Given the description of an element on the screen output the (x, y) to click on. 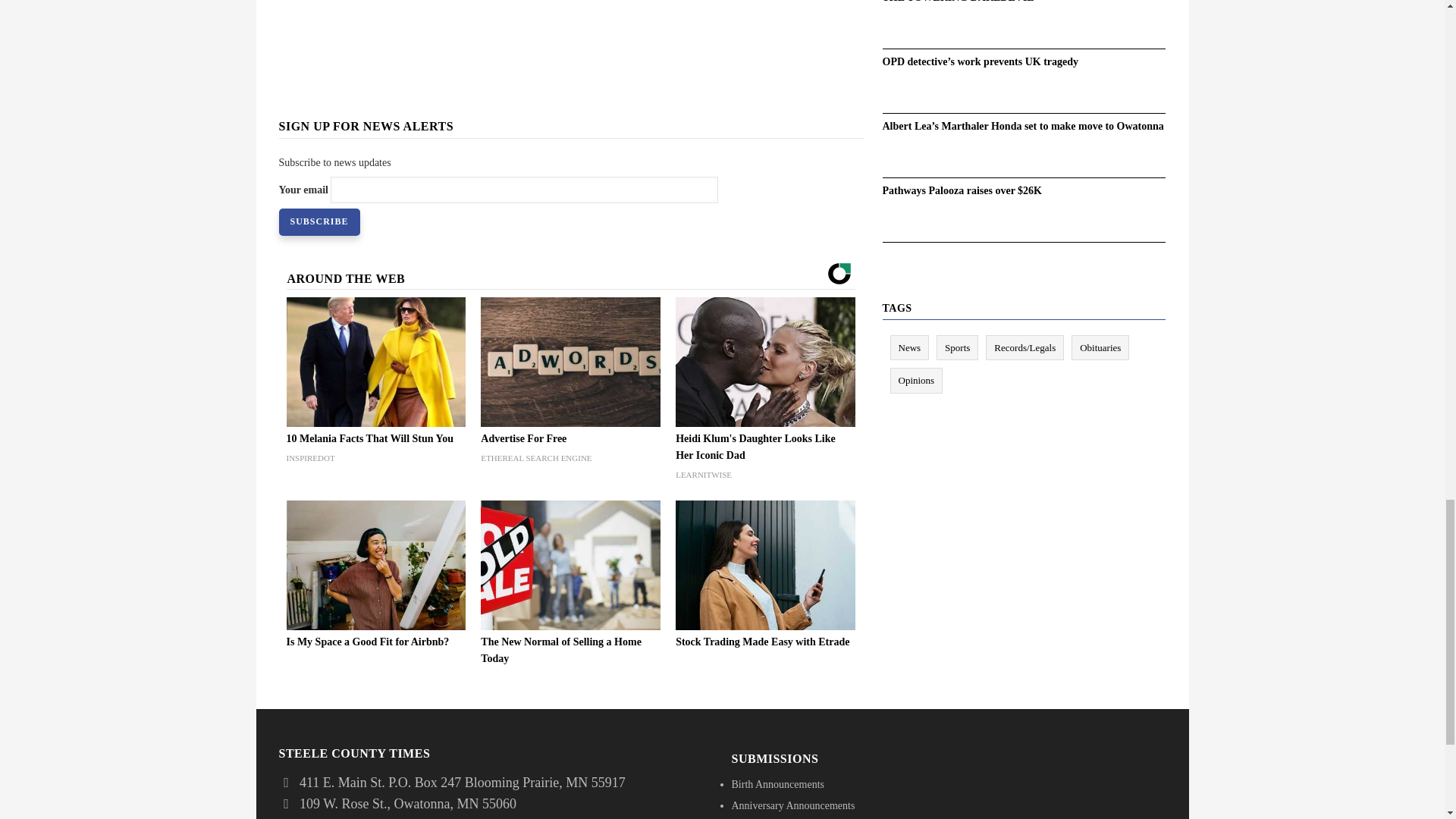
Share to E-mail (603, 32)
Subscribe (319, 221)
Share to Facebook (518, 32)
Share to Twitter (539, 32)
Share to Pinterest (561, 32)
Share to Reddit (582, 32)
